Given the description of an element on the screen output the (x, y) to click on. 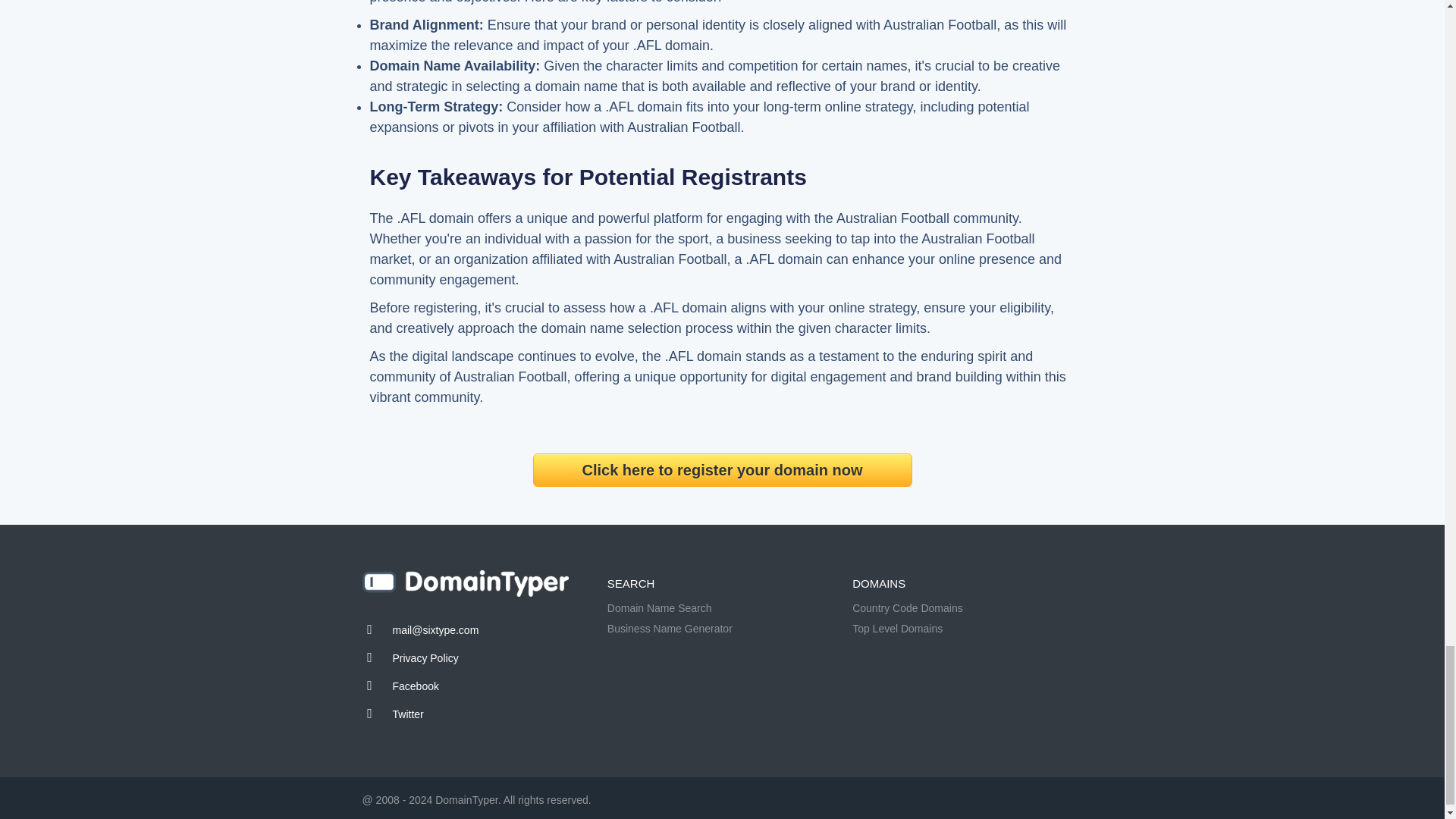
Business Name Generator (669, 628)
Country Code Domains (906, 607)
Facebook (416, 686)
Domain Name Search (659, 607)
Click here to register your domain now (721, 469)
Top Level Domains (896, 628)
Privacy Policy (425, 657)
Twitter (408, 714)
